Given the description of an element on the screen output the (x, y) to click on. 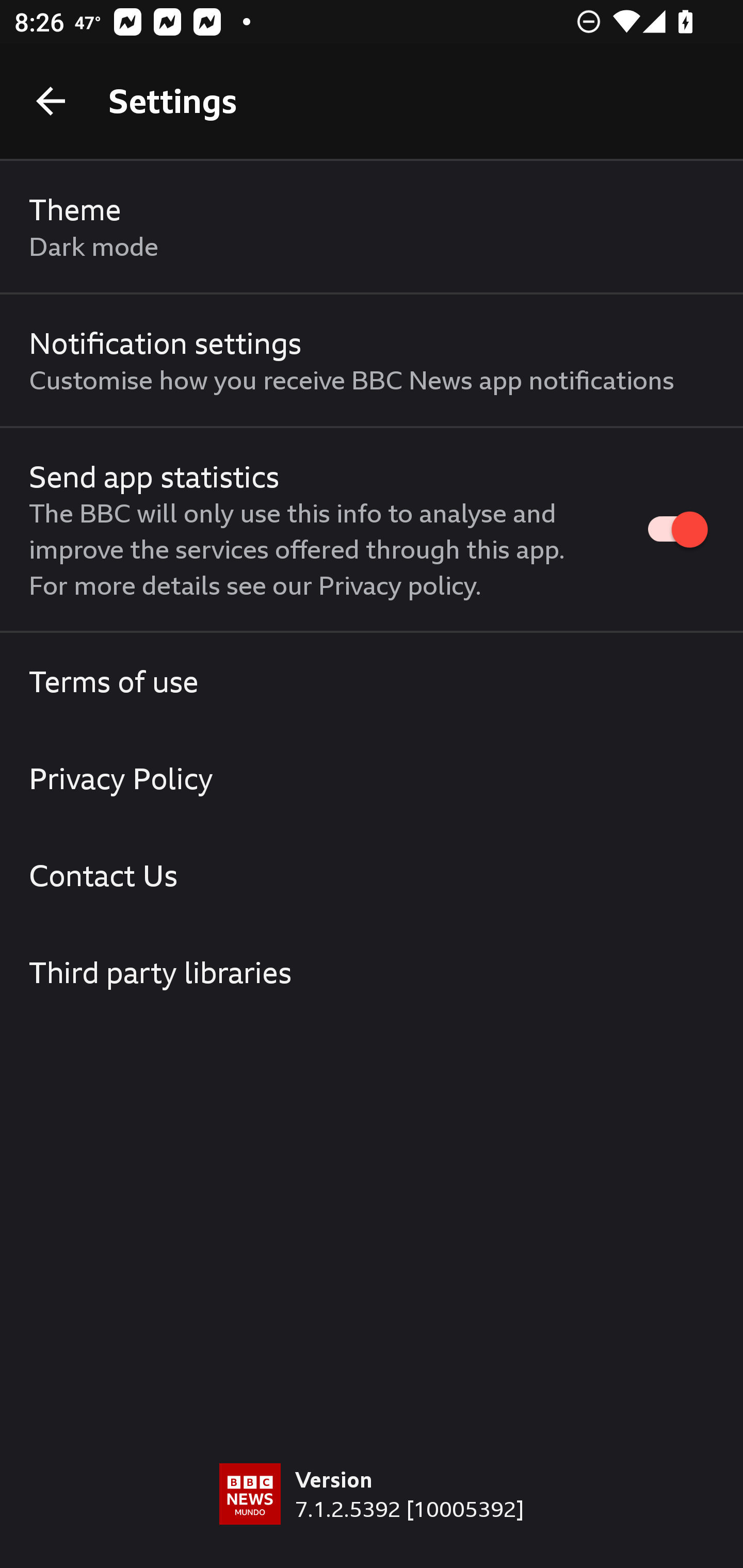
Back (50, 101)
Theme Dark mode (371, 227)
Terms of use (371, 681)
Privacy Policy (371, 777)
Contact Us (371, 874)
Third party libraries (371, 971)
Version 7.1.2.5392 [10005392] (371, 1515)
